Given the description of an element on the screen output the (x, y) to click on. 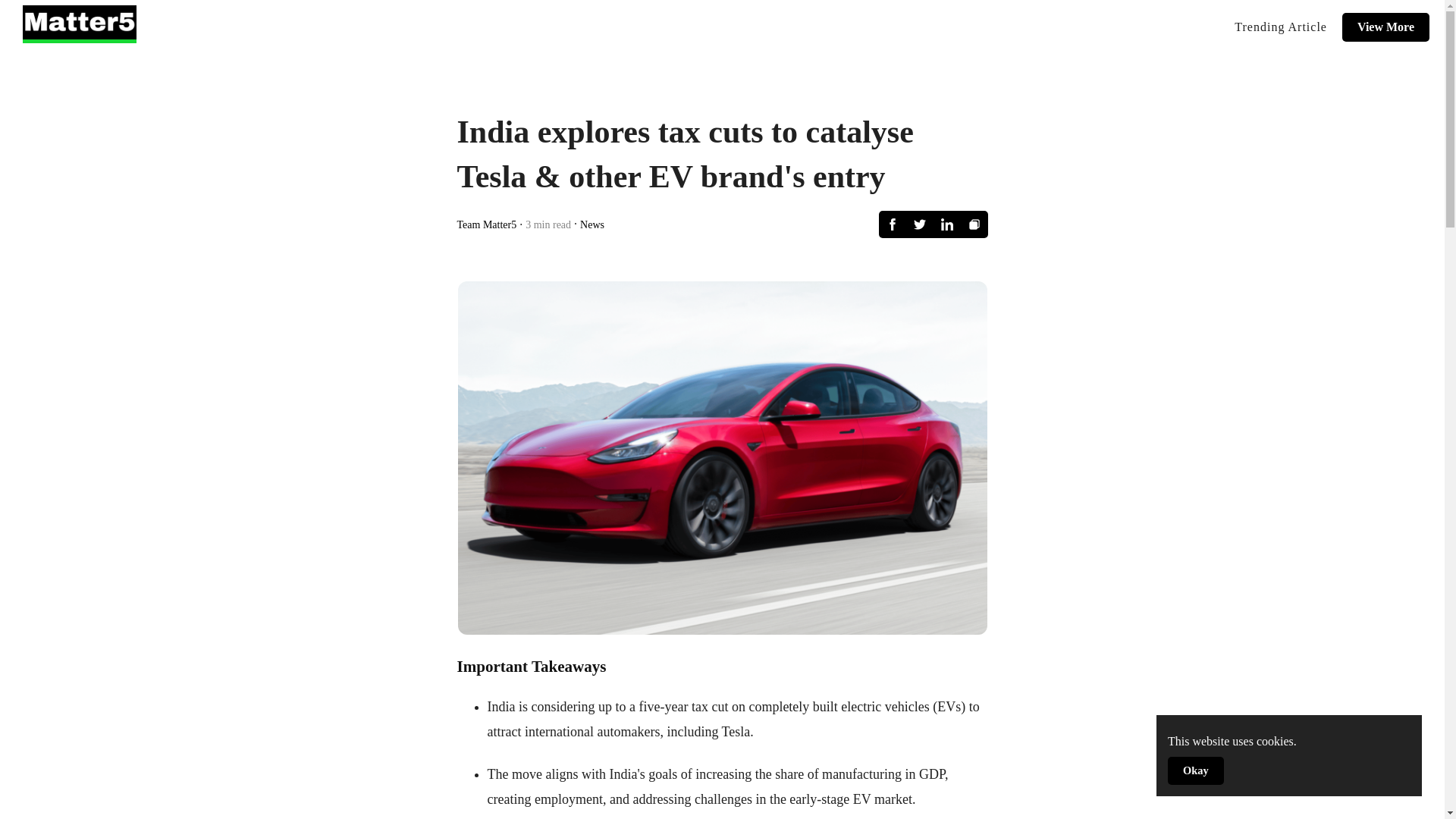
Team Matter5 (486, 223)
View More (1386, 26)
Trending Article (1281, 26)
View More (1385, 26)
Okay (1195, 770)
News (591, 223)
